Given the description of an element on the screen output the (x, y) to click on. 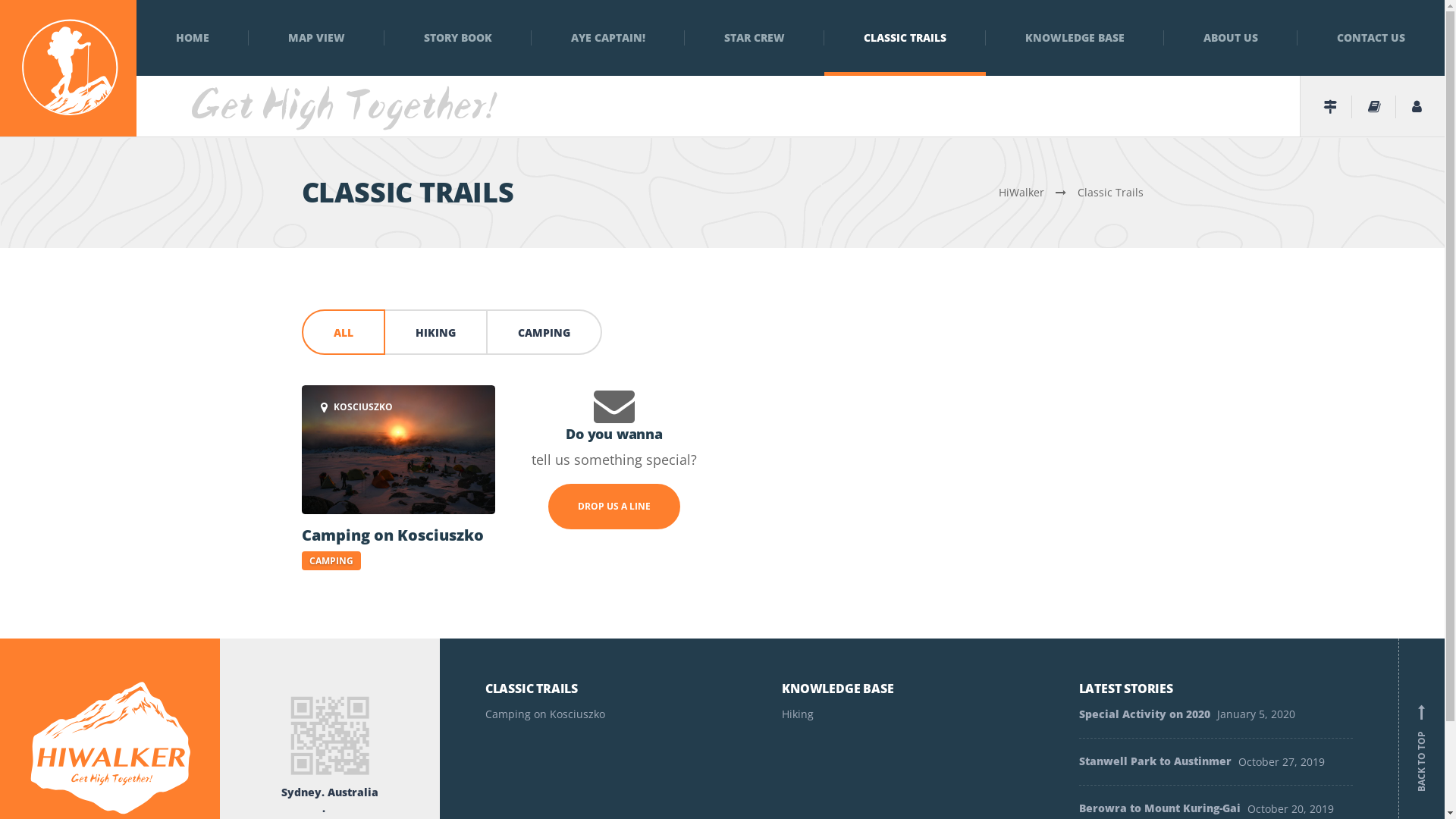
Stanwell Park to Austinmer Element type: text (1155, 760)
CONTACT US Element type: text (1370, 37)
AYE CAPTAIN! Element type: text (607, 37)
Hiking Element type: text (918, 716)
KOSCIUSZKO Element type: text (398, 449)
ABOUT US Element type: text (1230, 37)
Camping on Kosciuszko Element type: text (622, 716)
ALL Element type: text (343, 331)
Berowra to Mount Kuring-Gai Element type: text (1159, 800)
DROP US A LINE Element type: text (614, 506)
HIKING Element type: text (436, 331)
Special Activity on 2020 Element type: text (1144, 721)
STORY BOOK Element type: text (457, 37)
CAMPING Element type: text (543, 331)
MAP VIEW Element type: text (316, 37)
HOME Element type: text (192, 37)
CLASSIC TRAILS Element type: text (904, 37)
KNOWLEDGE BASE Element type: text (1074, 37)
HiWalker Element type: text (1036, 192)
Camping on Kosciuszko Element type: text (398, 535)
STAR CREW Element type: text (754, 37)
